Given the description of an element on the screen output the (x, y) to click on. 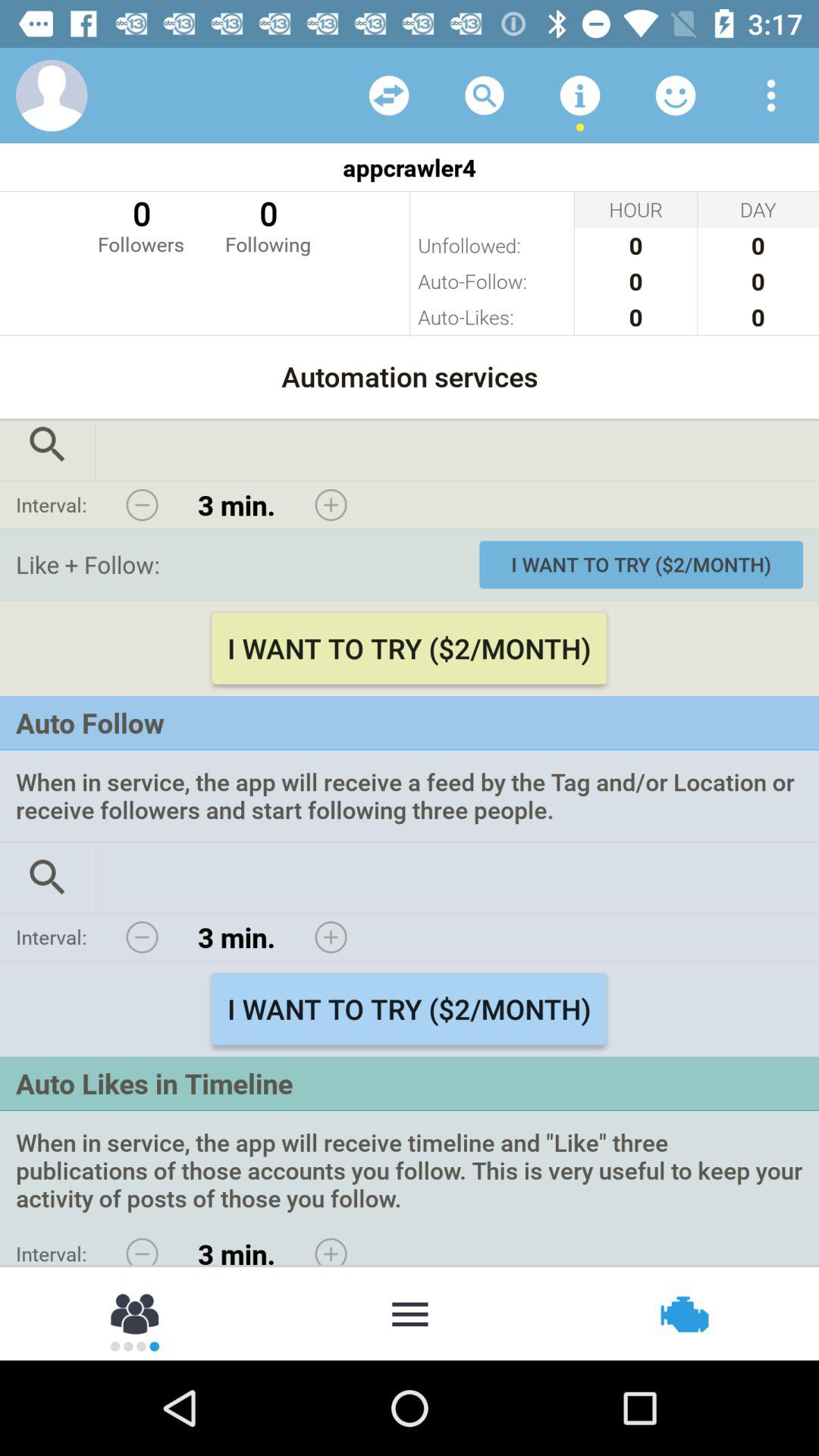
increases time interval (330, 1247)
